Given the description of an element on the screen output the (x, y) to click on. 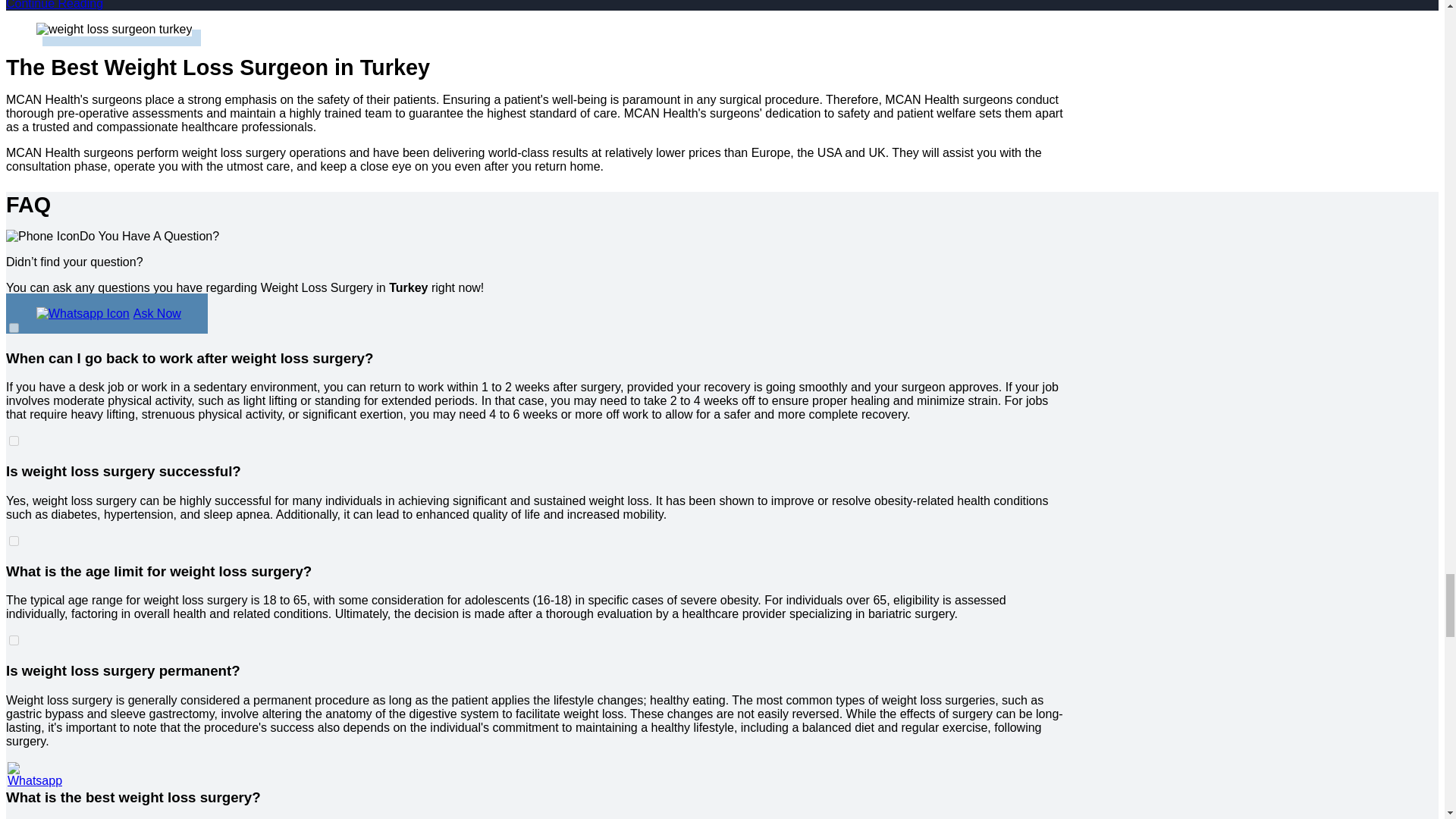
on (13, 640)
on (13, 440)
on (13, 541)
on (13, 327)
on (13, 767)
